Given the description of an element on the screen output the (x, y) to click on. 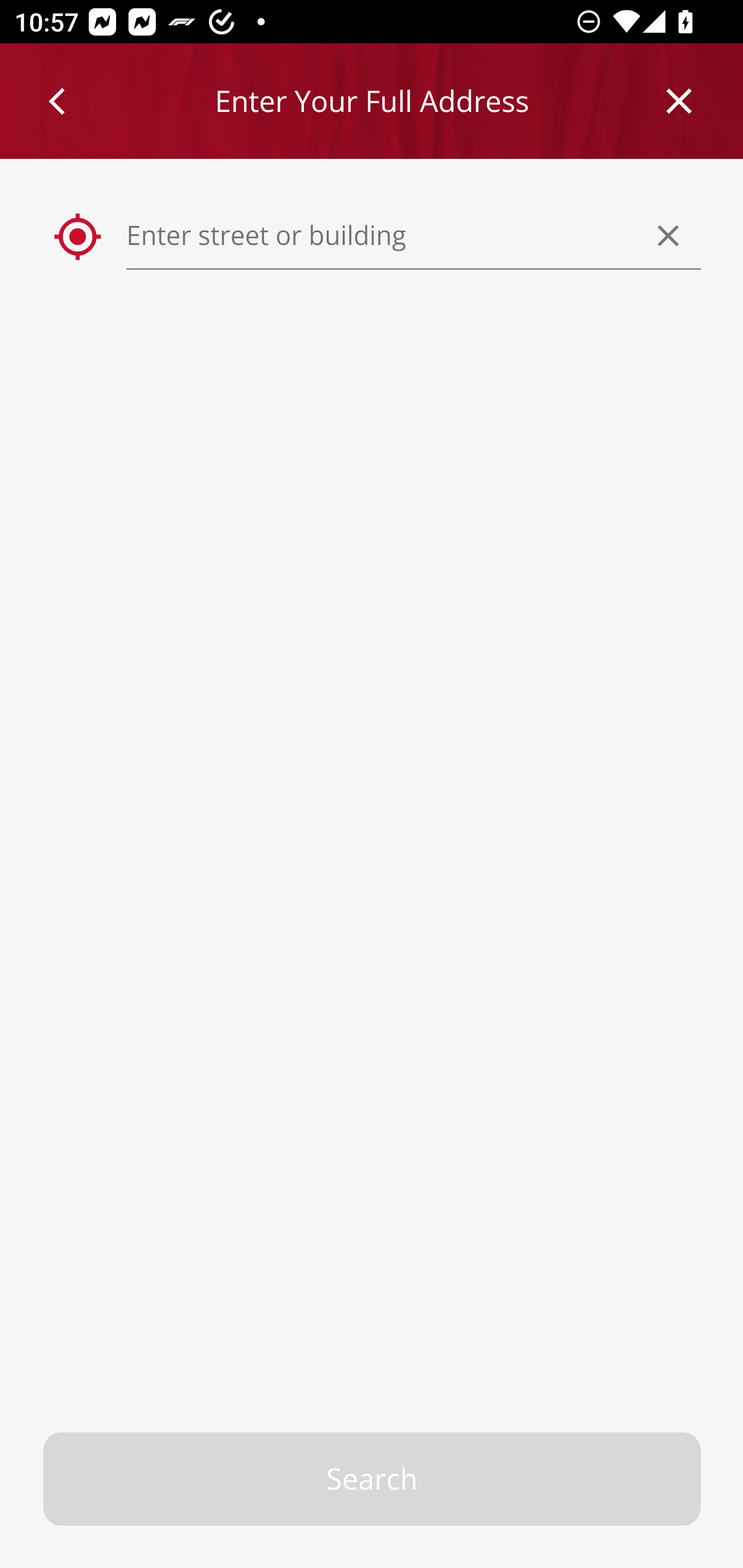
arrow_back_ios (65, 100)
close (679, 100)
gps_fixed (78, 237)
clear (669, 235)
Search (372, 1479)
